Given the description of an element on the screen output the (x, y) to click on. 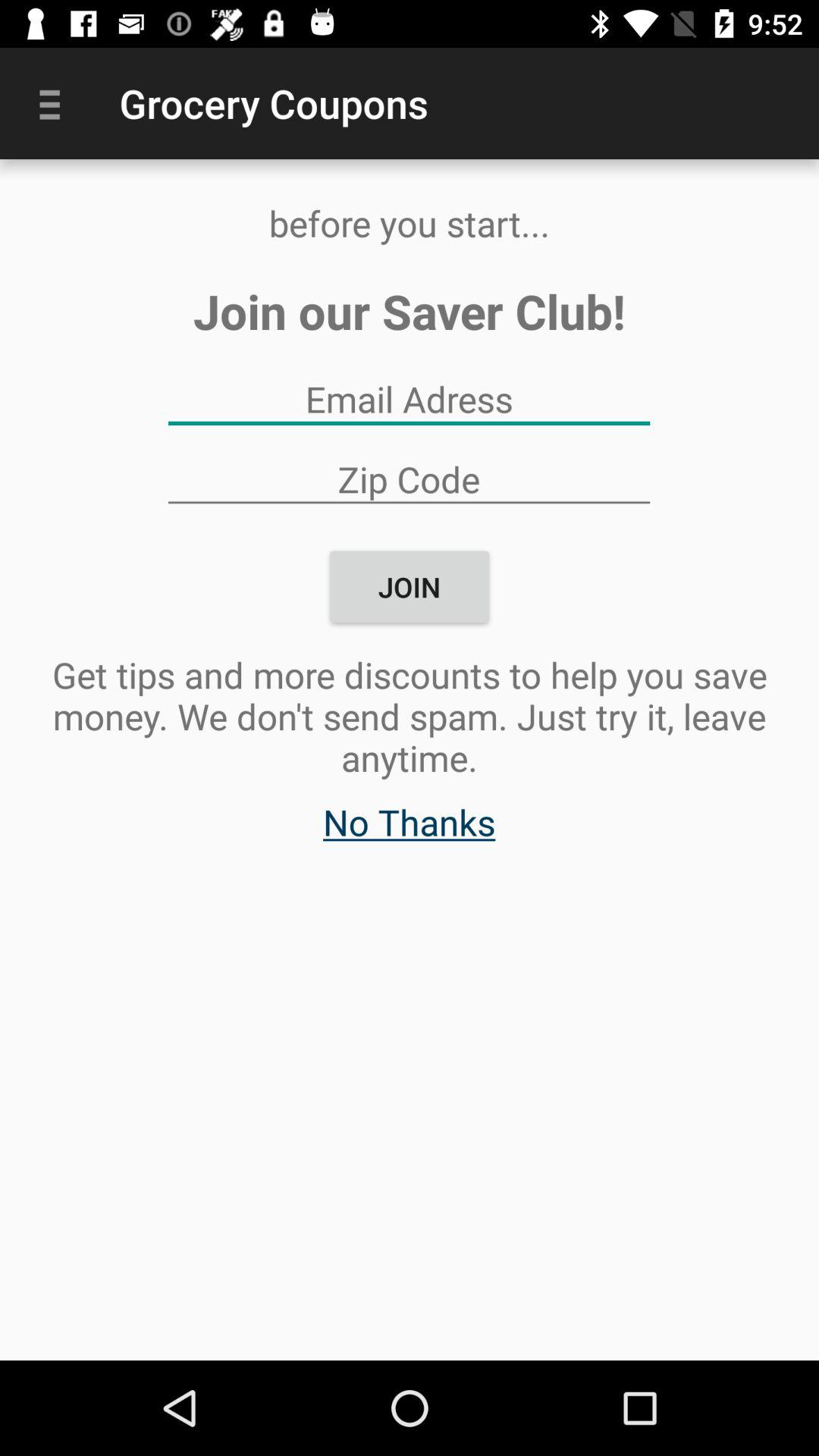
enter email address (409, 398)
